Given the description of an element on the screen output the (x, y) to click on. 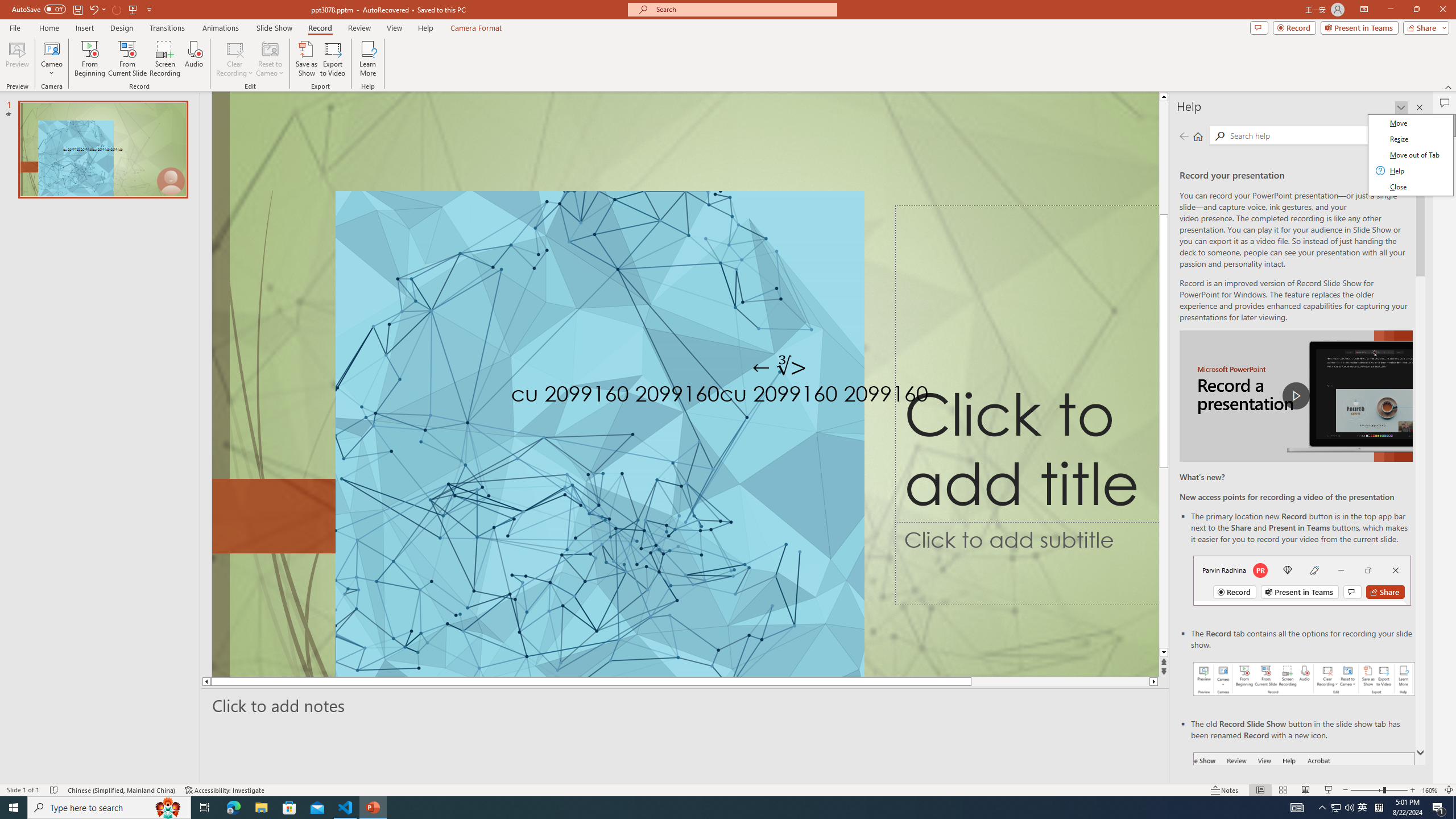
An abstract genetic concept (685, 383)
Zoom 160% (1430, 790)
